Given the description of an element on the screen output the (x, y) to click on. 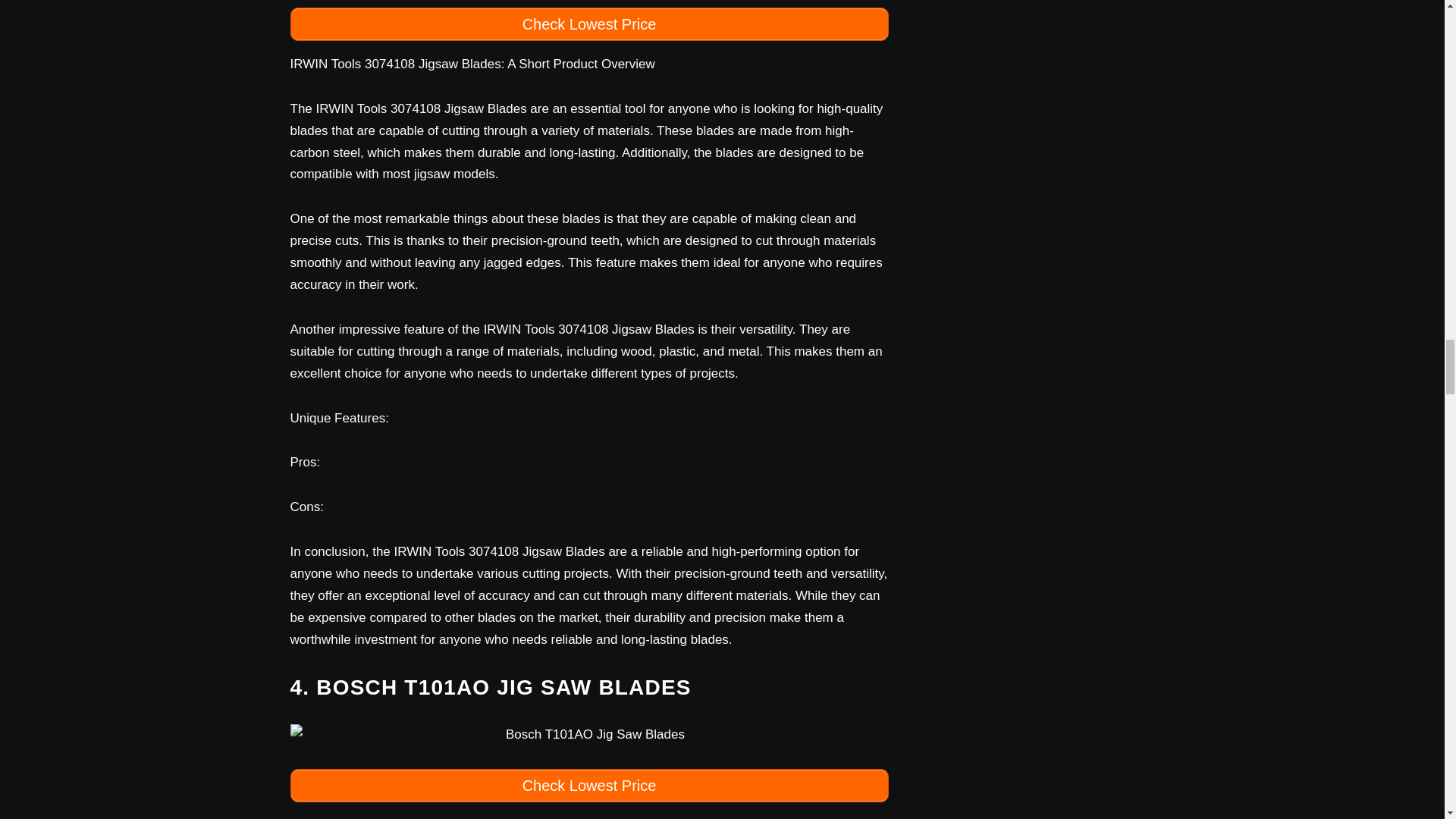
Check Lowest Price (588, 23)
Check Lowest Price (588, 785)
